Given the description of an element on the screen output the (x, y) to click on. 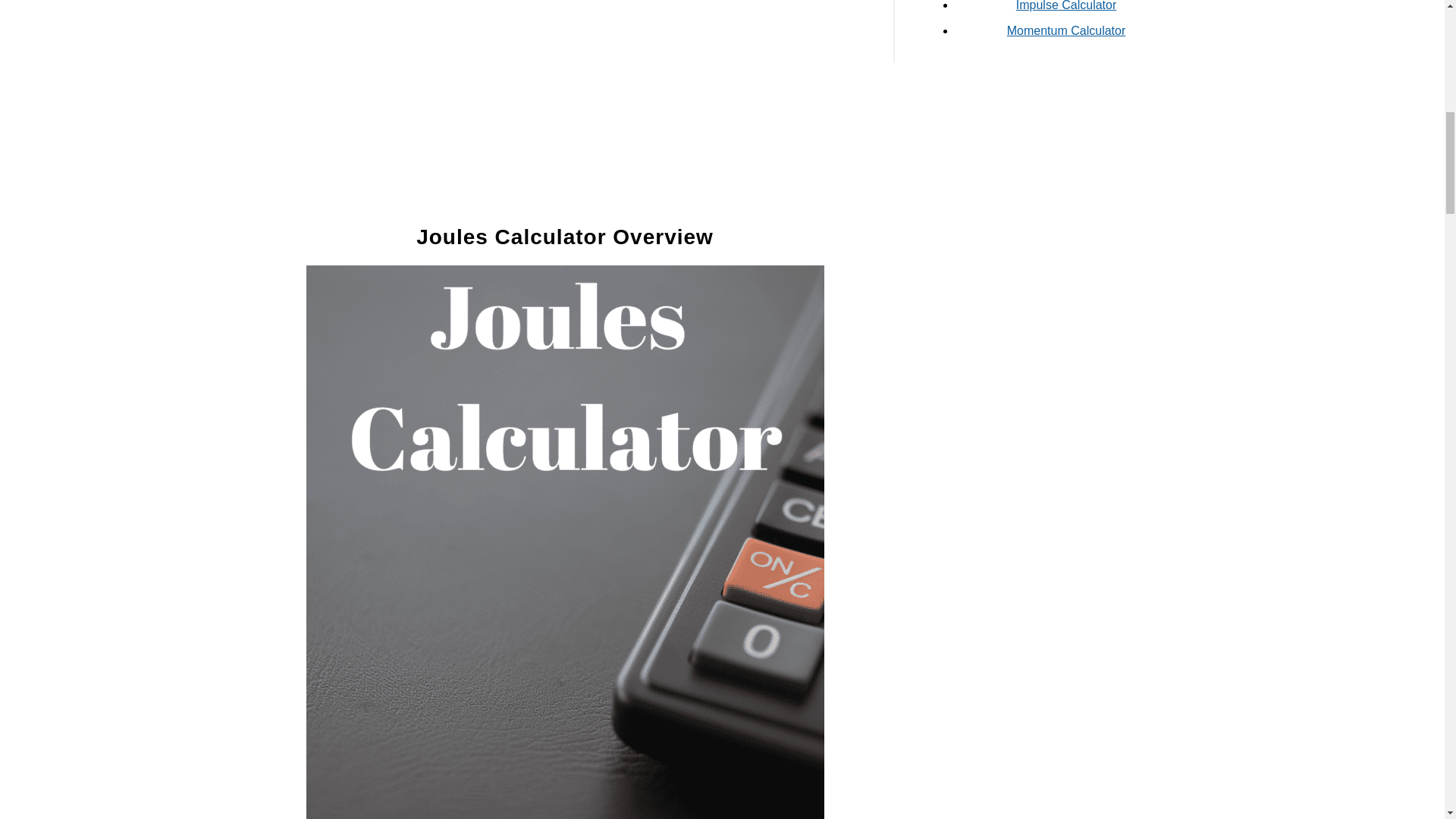
Impulse Calculator (1066, 5)
Momentum Calculator (1066, 30)
